Given the description of an element on the screen output the (x, y) to click on. 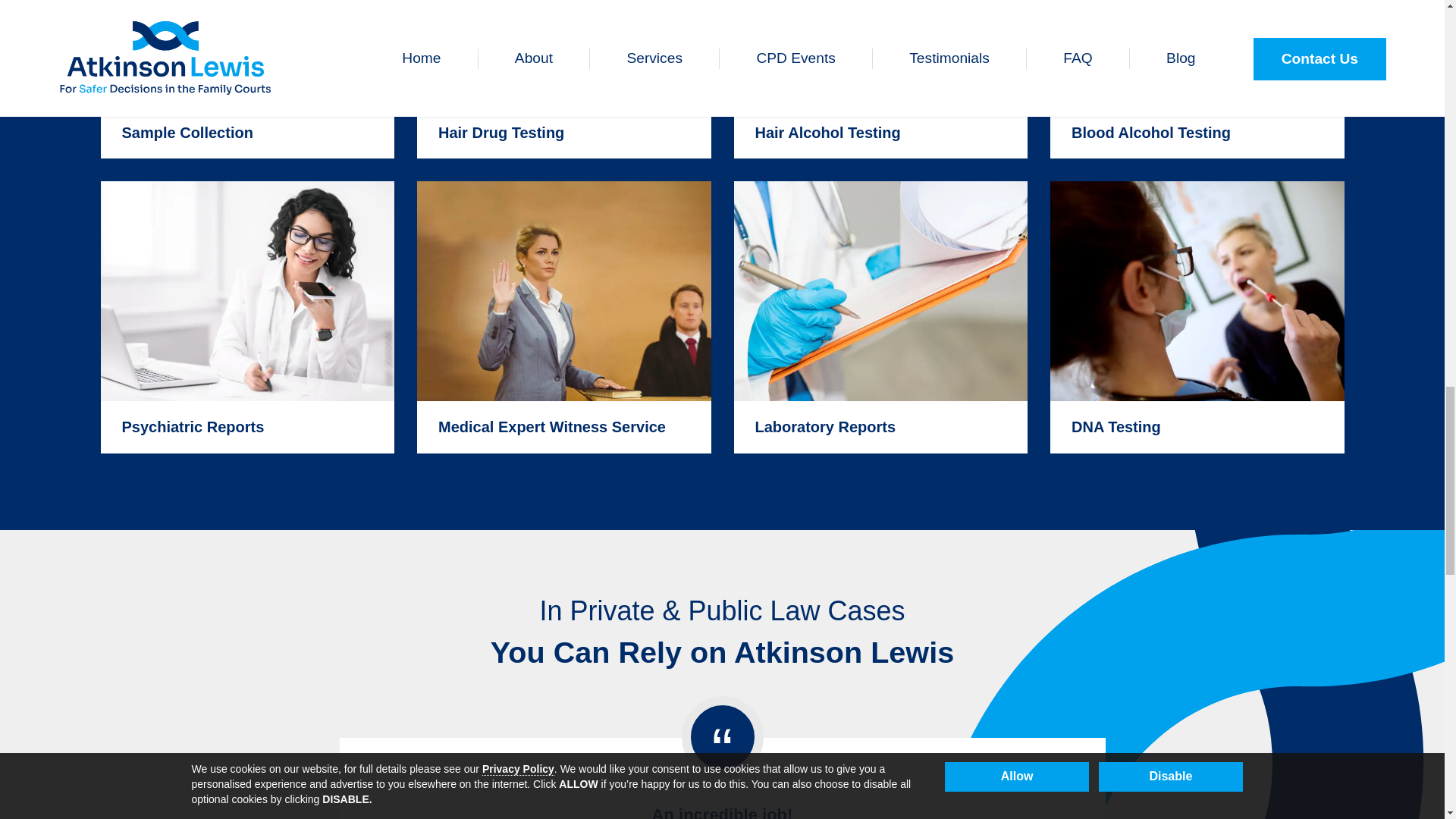
DNA Testing (1196, 316)
Hair Alcohol Testing (880, 79)
Laboratory Reports (880, 316)
Hair Drug Testing (563, 79)
Blood Alcohol Testing (1196, 79)
Sample Collection (247, 79)
Psychiatric Reports (247, 316)
Medical Expert Witness Service (563, 316)
